Given the description of an element on the screen output the (x, y) to click on. 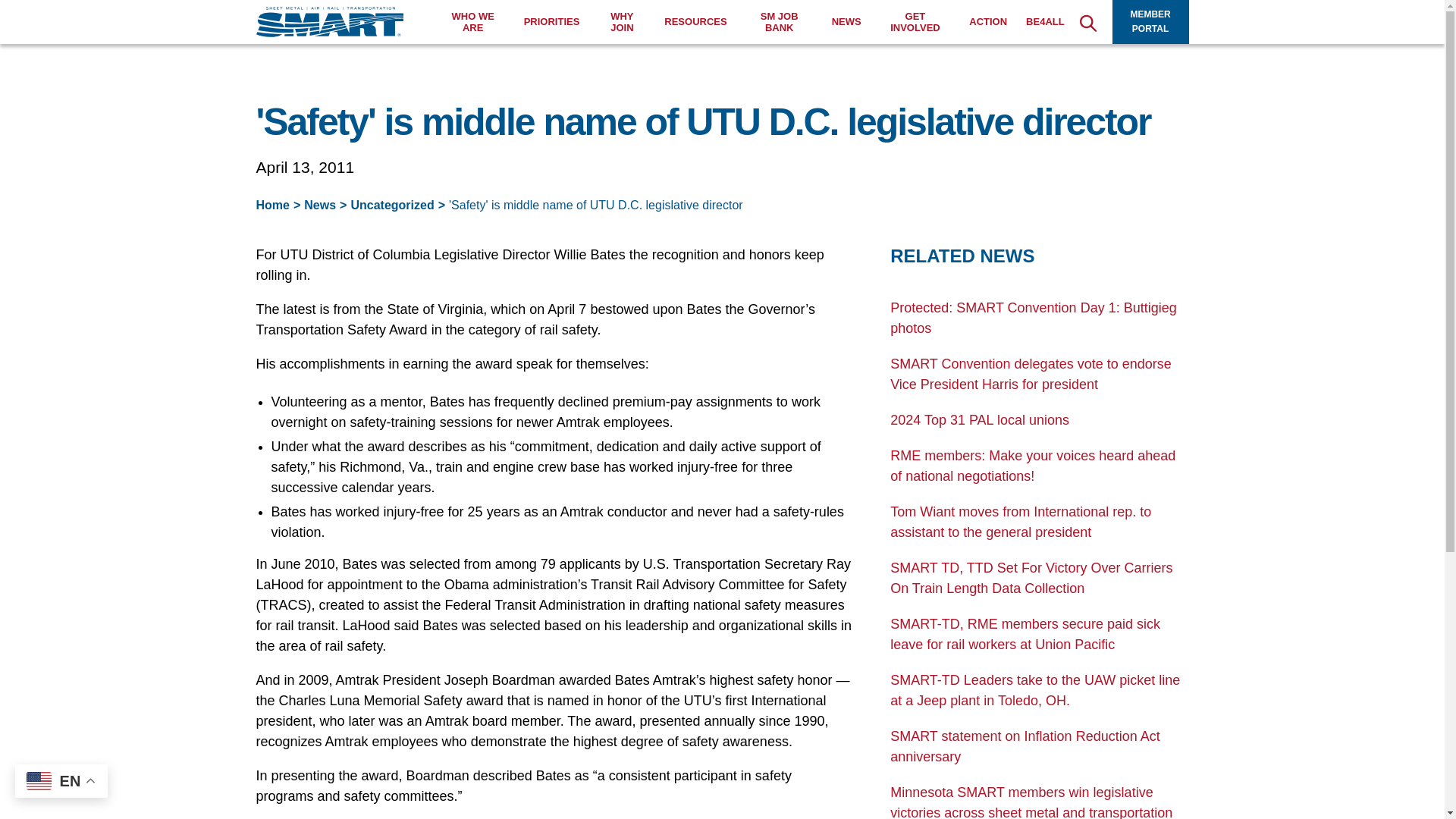
Go to News. (320, 205)
WHY JOIN (621, 22)
Go to the Uncategorized category archives. (391, 205)
PRIORITIES (551, 21)
Go to SMART Union. (272, 205)
WHO WE ARE (473, 22)
